Given the description of an element on the screen output the (x, y) to click on. 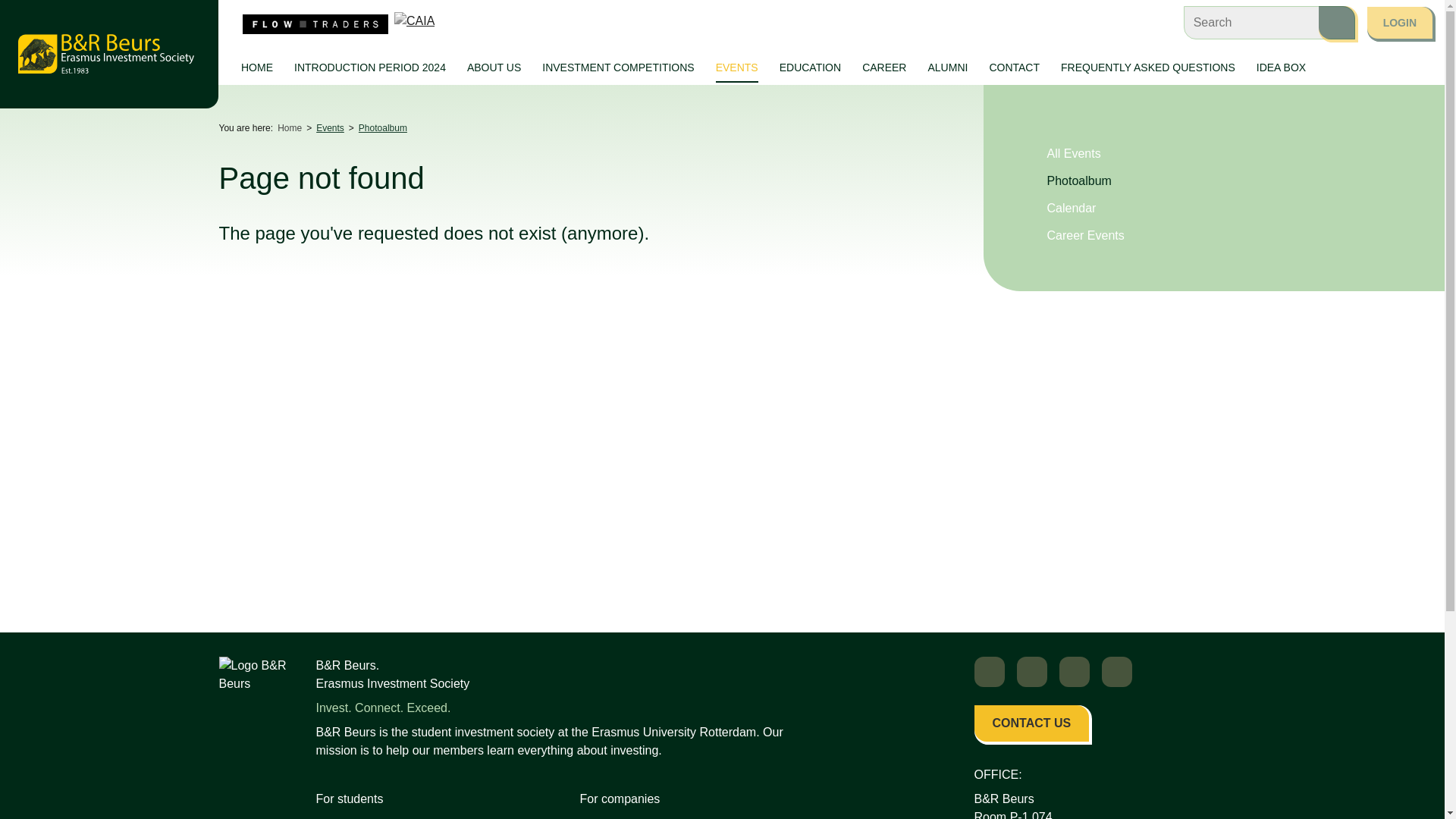
search (1337, 22)
INVESTMENT COMPETITIONS (617, 67)
search (1337, 22)
ABOUT US (494, 55)
search (1337, 22)
LOGIN (1399, 22)
